Given the description of an element on the screen output the (x, y) to click on. 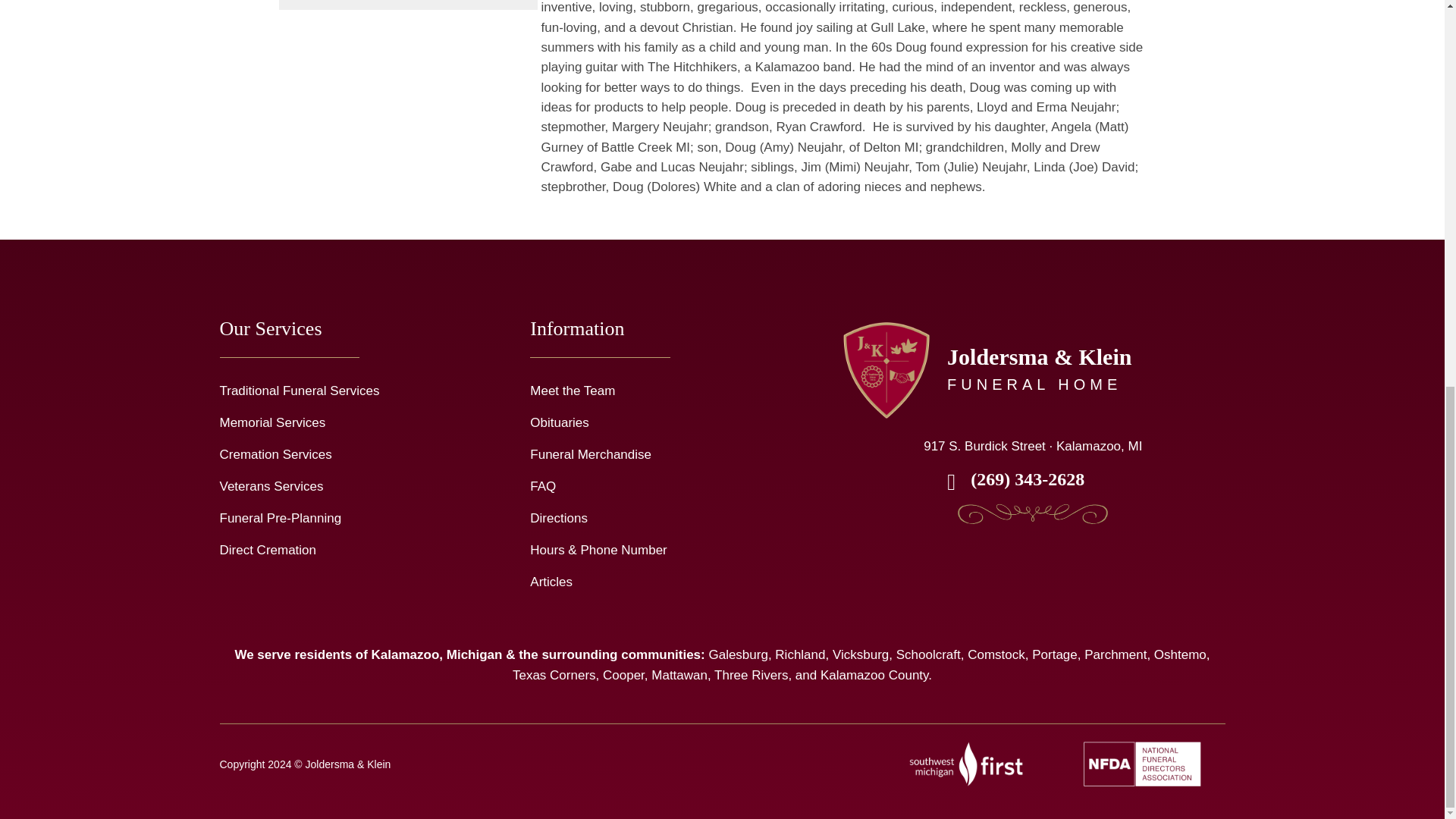
swm-first-logo-white-transparent (965, 763)
JoldersmaShield-2022 (886, 370)
Joldersma-Klein-website-refresh-Asset 3 (1032, 515)
NFDA-logo-white-transparent (1141, 763)
